Given the description of an element on the screen output the (x, y) to click on. 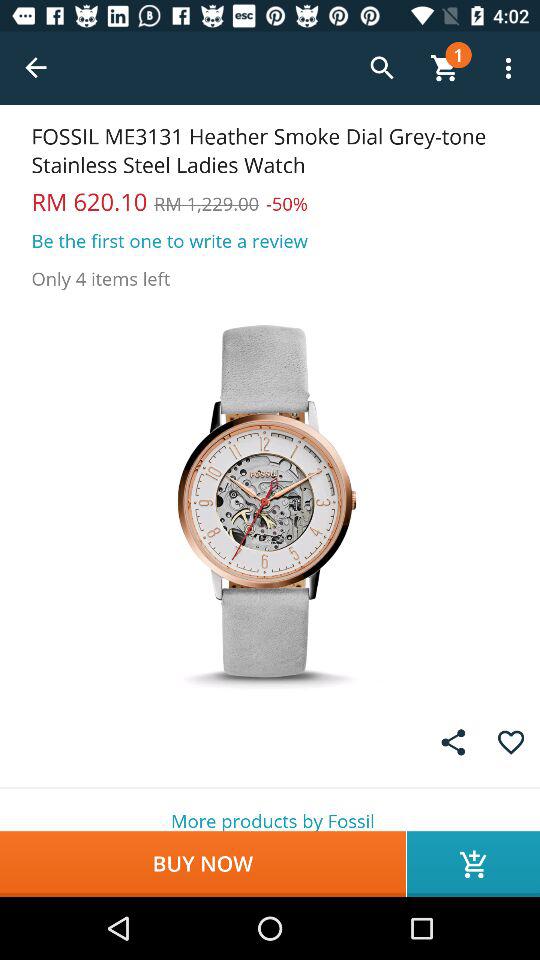
open icon below more products by icon (473, 863)
